Given the description of an element on the screen output the (x, y) to click on. 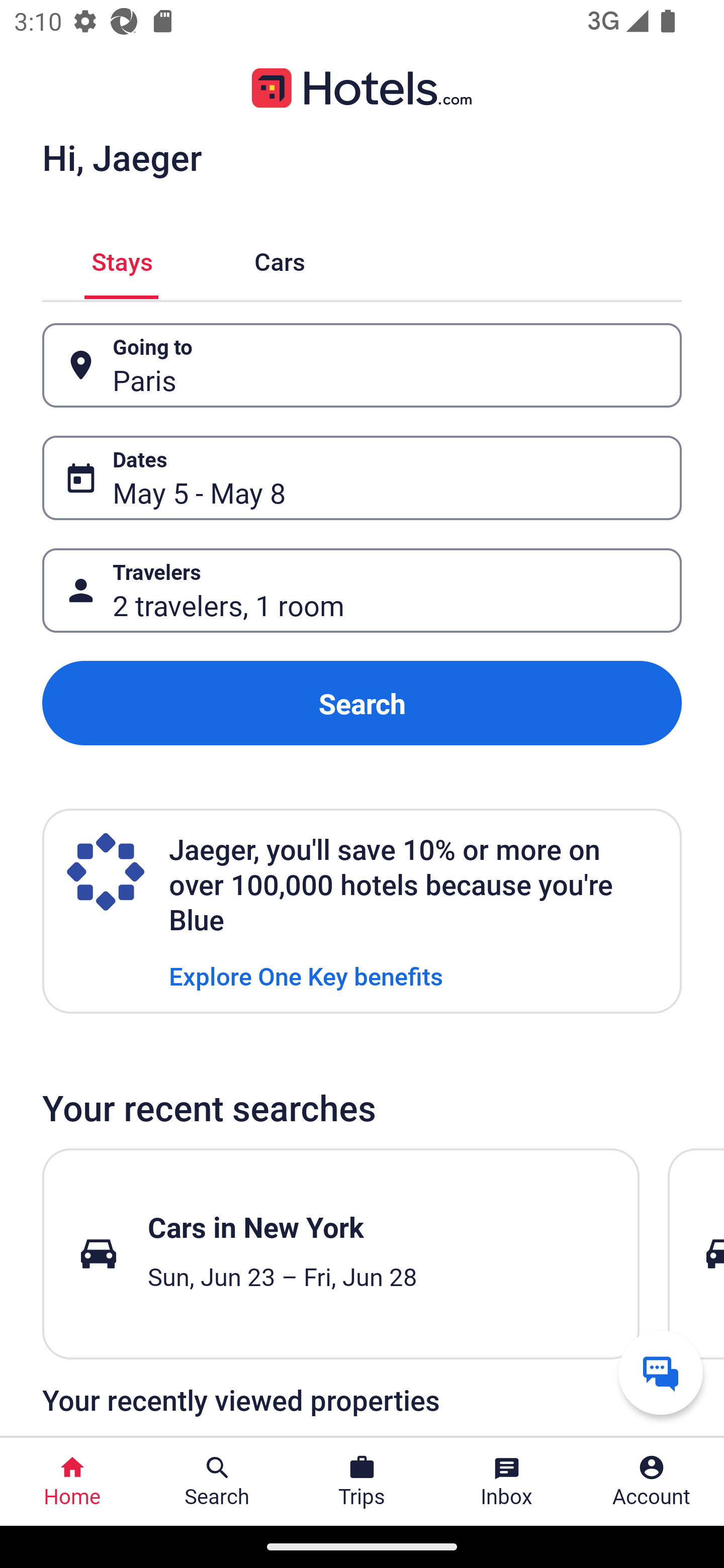
Hi, Jaeger (121, 156)
Cars (279, 259)
Going to Button Paris (361, 365)
Dates Button May 5 - May 8 (361, 477)
Travelers Button 2 travelers, 1 room (361, 590)
Search (361, 702)
Get help from a virtual agent (660, 1371)
Search Search Button (216, 1481)
Trips Trips Button (361, 1481)
Inbox Inbox Button (506, 1481)
Account Profile. Button (651, 1481)
